Given the description of an element on the screen output the (x, y) to click on. 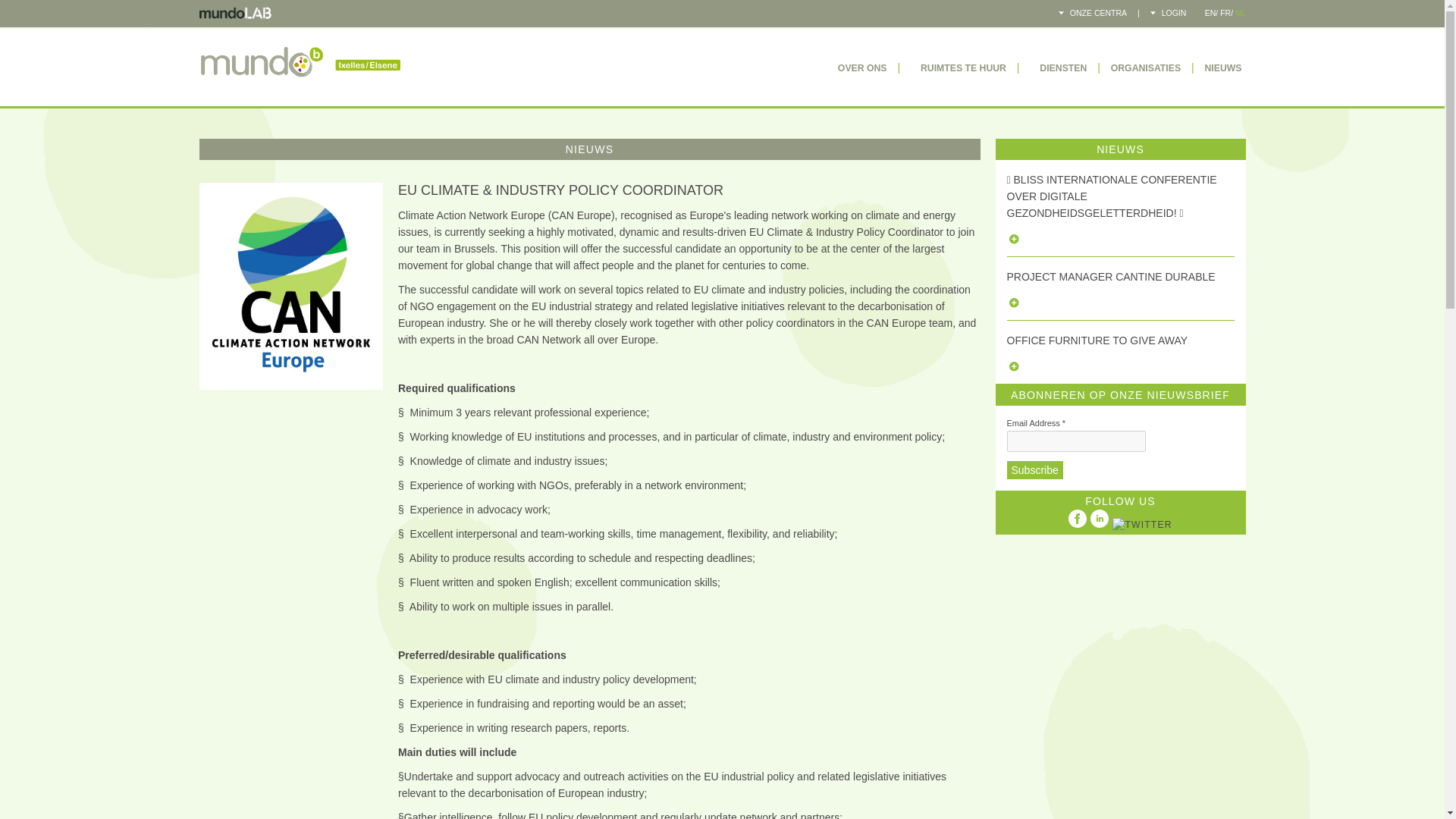
follow us on facebook (1077, 518)
ONZE CENTRA (1092, 12)
DIENSTEN (1057, 68)
RUIMTES TE HUUR (958, 68)
NIEUWS (1222, 68)
OVER ONS (857, 68)
FR (1225, 12)
ORGANISATIES (1145, 68)
EN (1210, 12)
LOGIN (1168, 12)
follow us on instagram (1142, 524)
Subscribe (1034, 470)
follow us on linkedin (1099, 518)
